Given the description of an element on the screen output the (x, y) to click on. 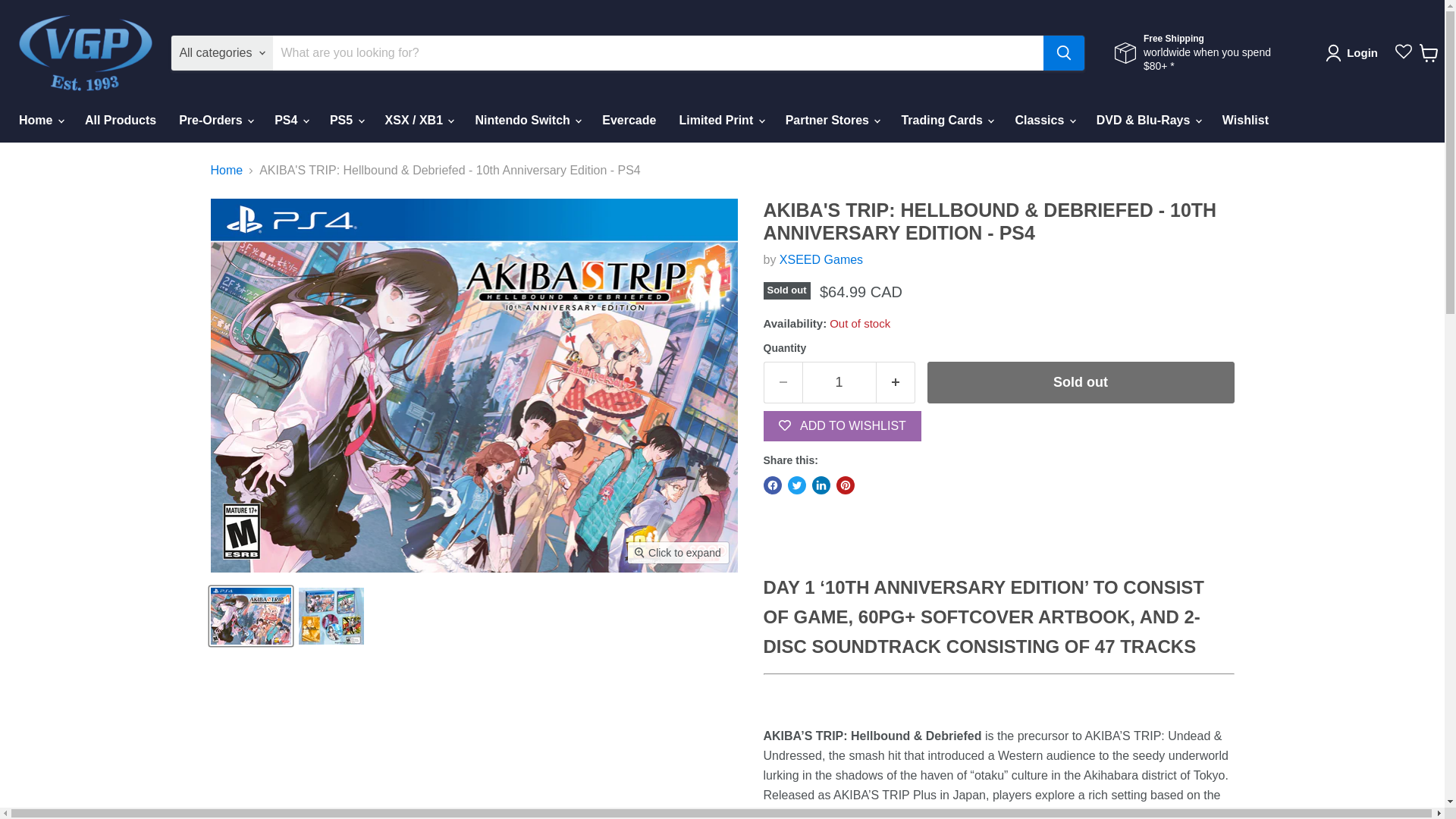
1 (839, 382)
XSEED Games (820, 259)
Login (1354, 53)
Evercade (628, 120)
All Products (120, 120)
